Given the description of an element on the screen output the (x, y) to click on. 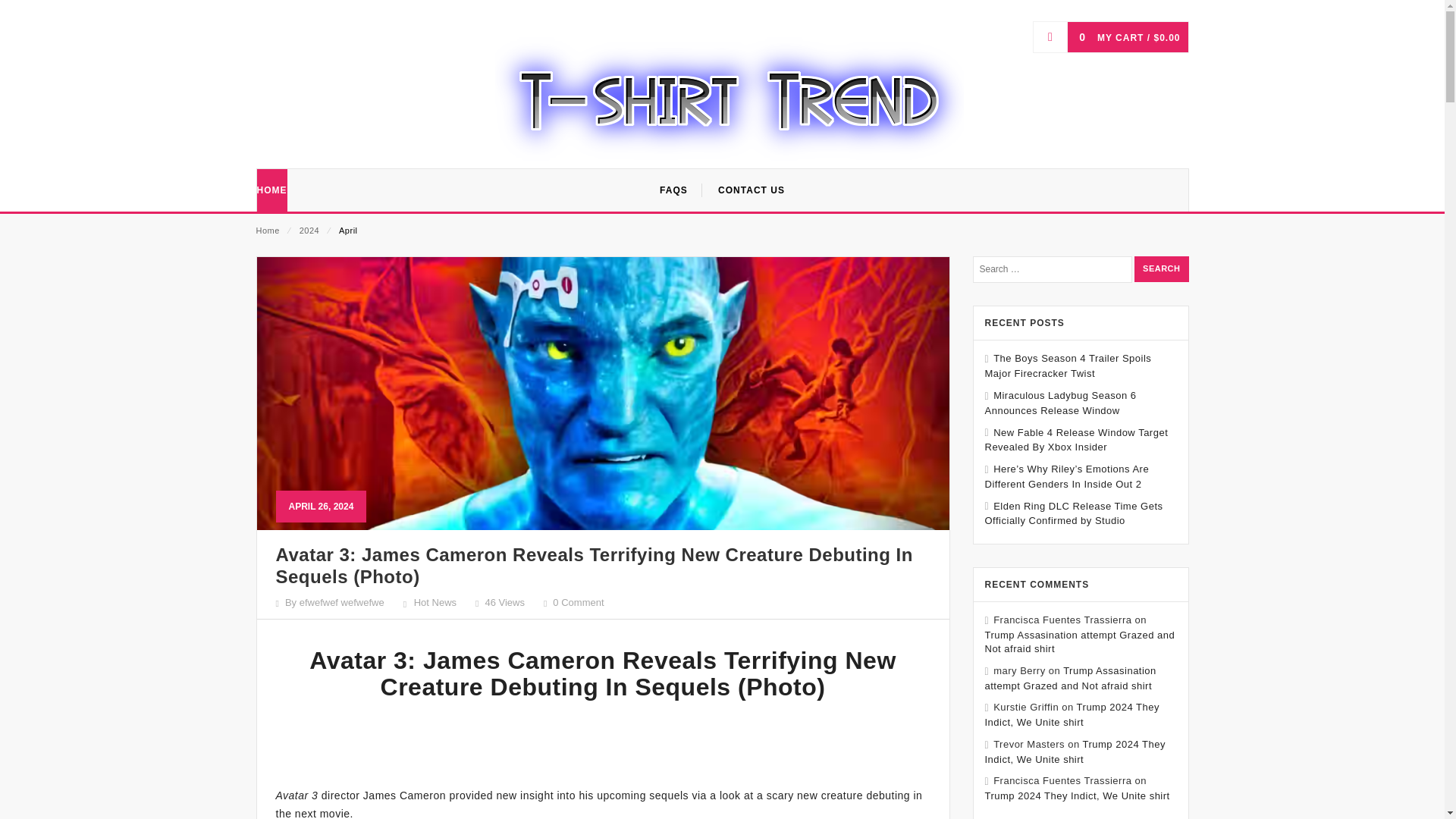
CONTACT US (750, 189)
2024 (308, 230)
Search (1161, 268)
FAQS (673, 189)
0 Comment (578, 602)
Home (267, 230)
Search (1161, 268)
Hot News (435, 602)
Trend T Shirt Store Online (728, 96)
